Given the description of an element on the screen output the (x, y) to click on. 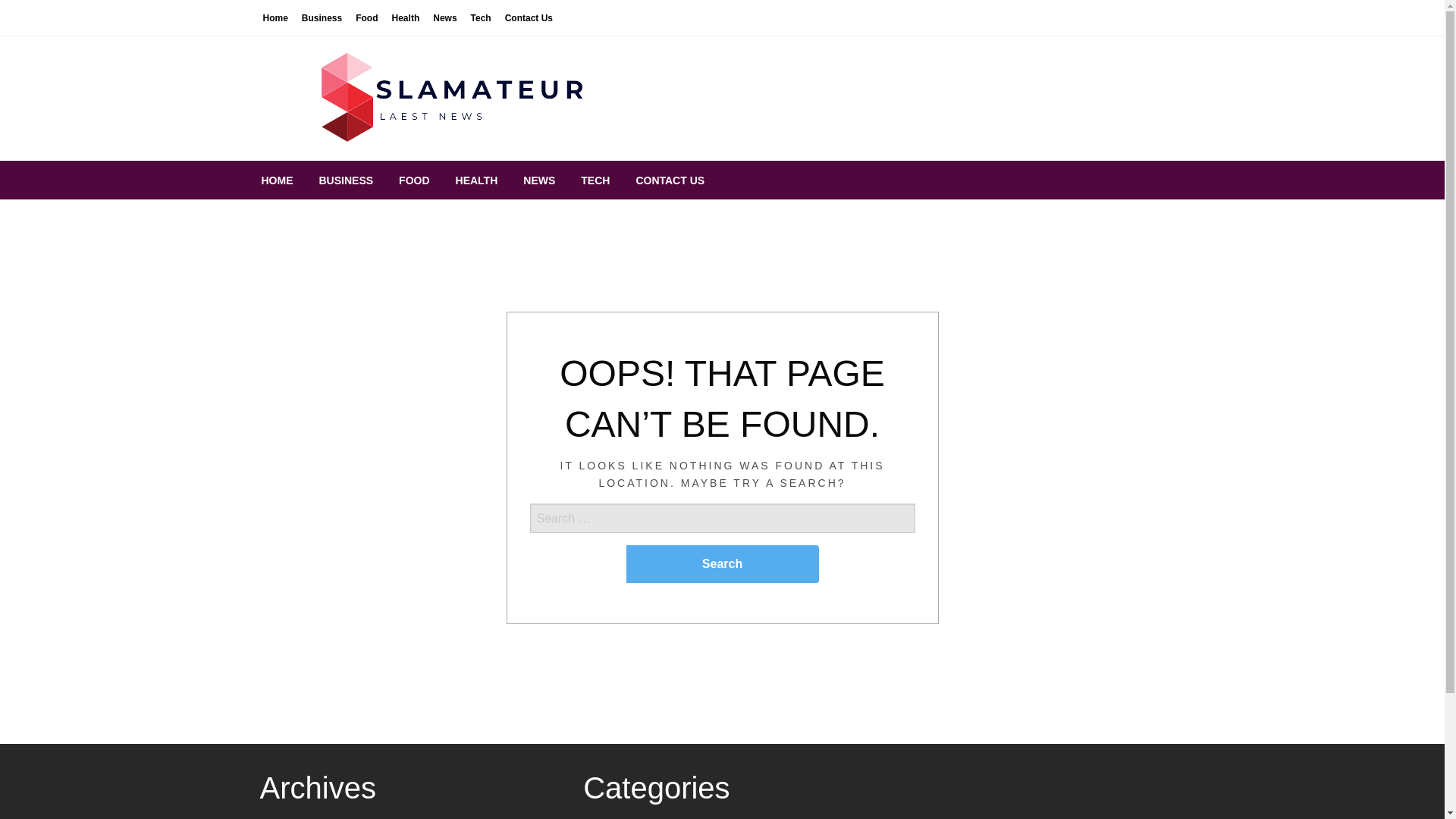
HEALTH (476, 180)
Contact Us (528, 17)
CONTACT US (670, 180)
Health (405, 17)
Home (275, 17)
HOME (276, 180)
News (444, 17)
Search (722, 564)
Search for: (721, 543)
BUSINESS (346, 180)
